Given the description of an element on the screen output the (x, y) to click on. 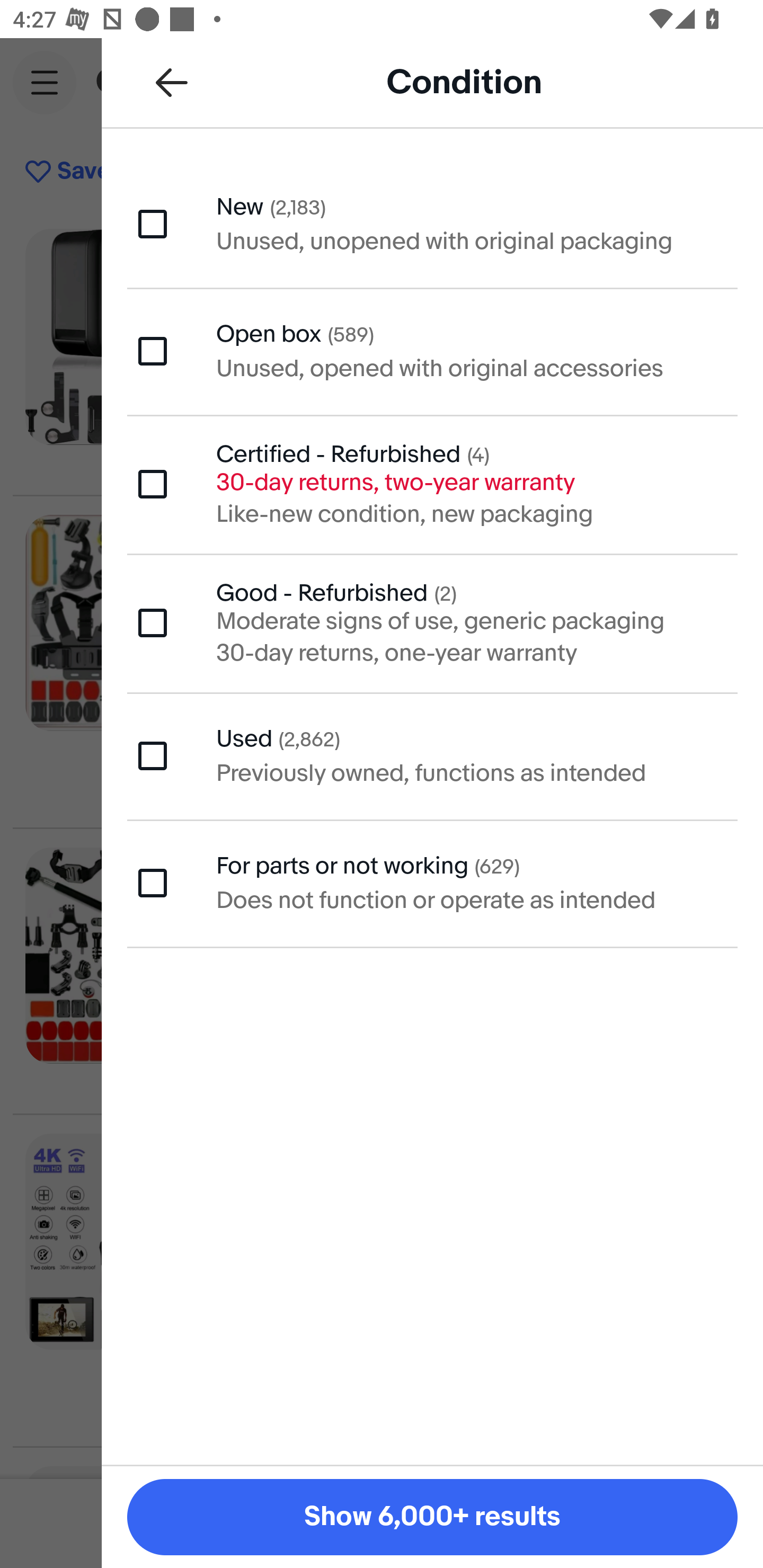
Back to all refinements (171, 81)
Show 6,000+ results (432, 1516)
